Given the description of an element on the screen output the (x, y) to click on. 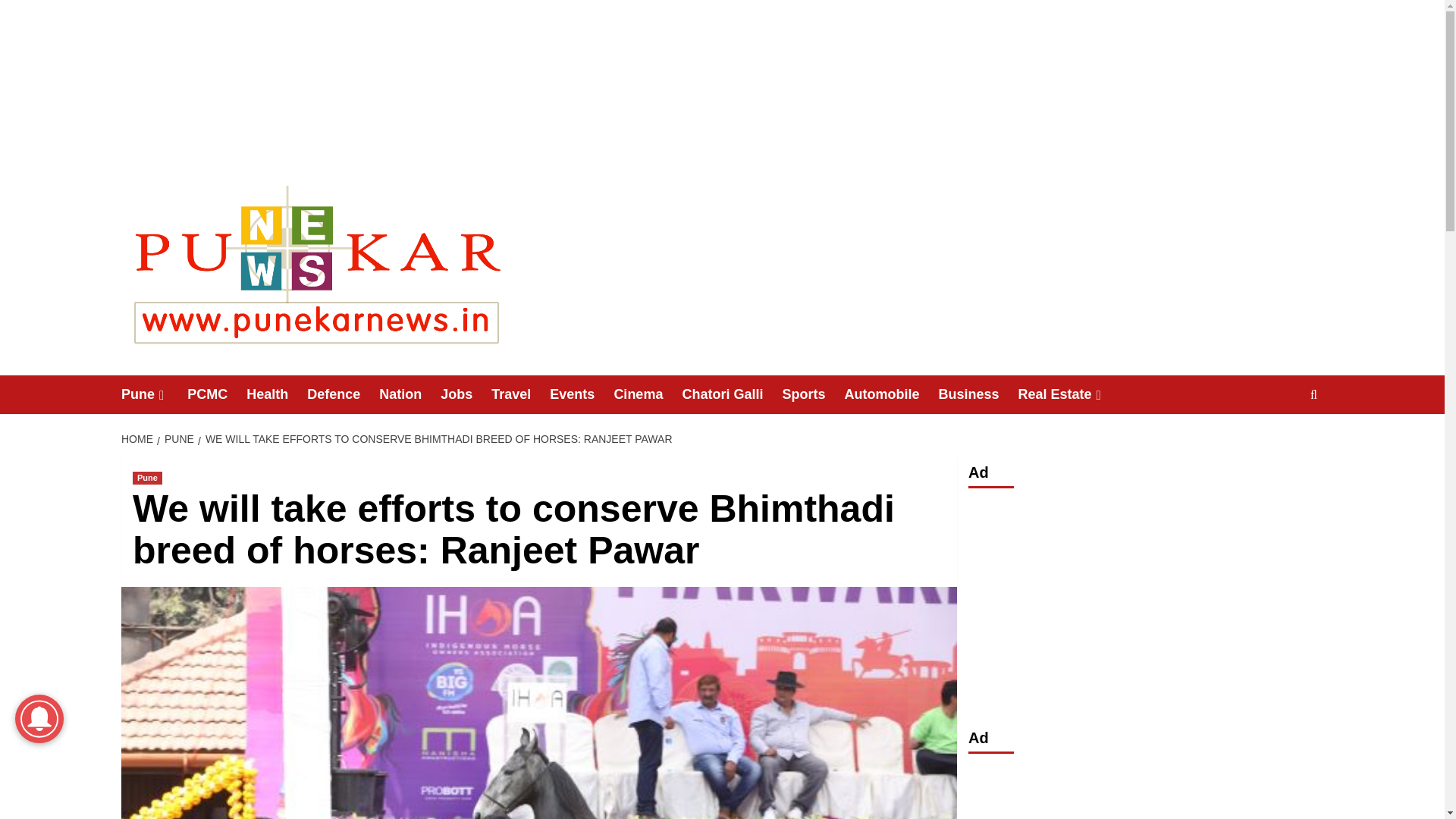
Defence (342, 394)
Automobile (890, 394)
Real Estate (1070, 394)
HOME (138, 439)
Events (581, 394)
Health (276, 394)
Pune (153, 394)
Jobs (466, 394)
Advertisement (1145, 603)
PCMC (216, 394)
Advertisement (1145, 791)
Pune (146, 477)
Search (1278, 441)
Travel (521, 394)
PUNE (177, 439)
